Given the description of an element on the screen output the (x, y) to click on. 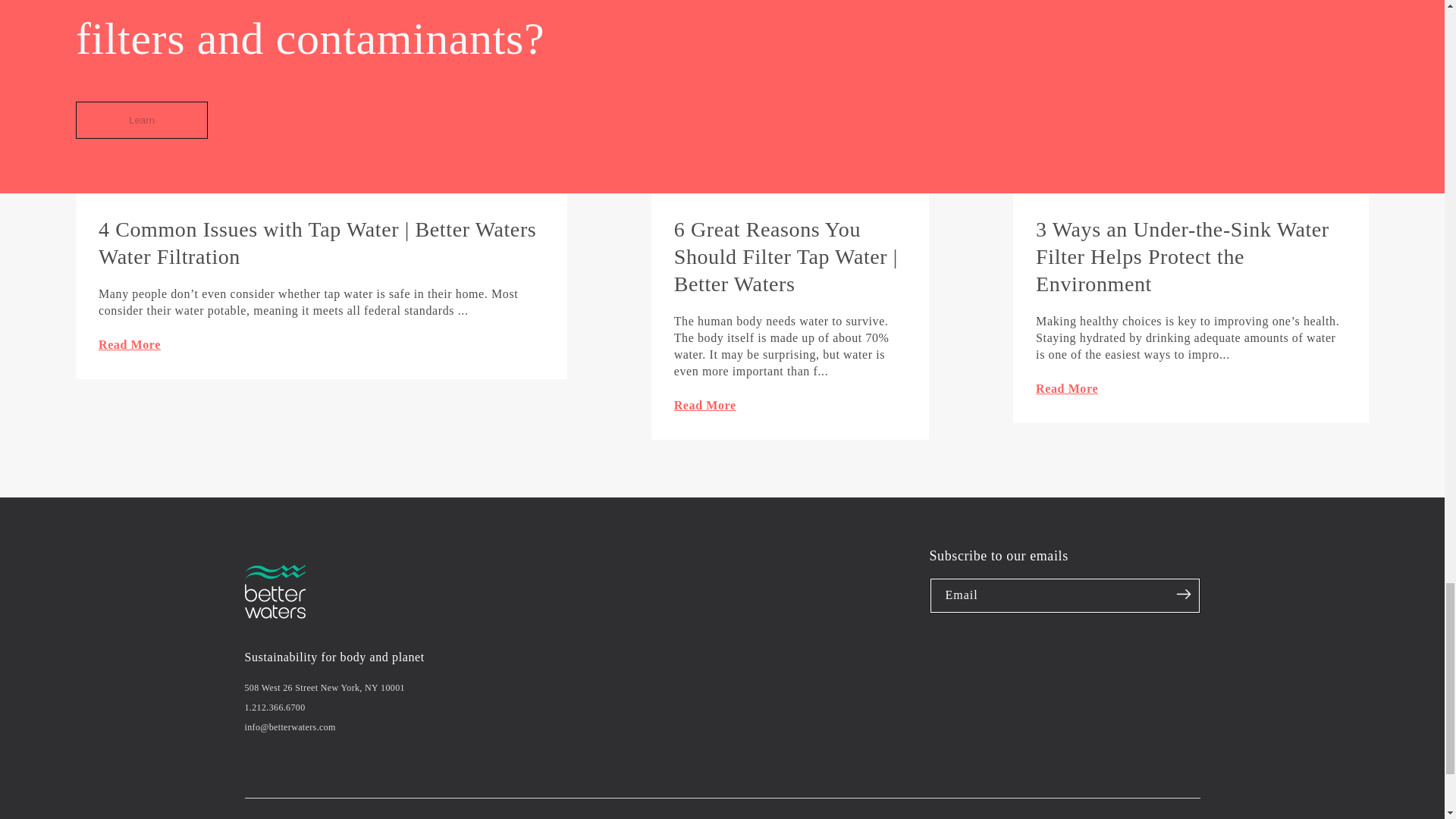
Read More (790, 405)
Read More (321, 345)
Read More (1190, 389)
Learn (141, 119)
1.212.366.6700 (274, 706)
Learn (141, 119)
